Given the description of an element on the screen output the (x, y) to click on. 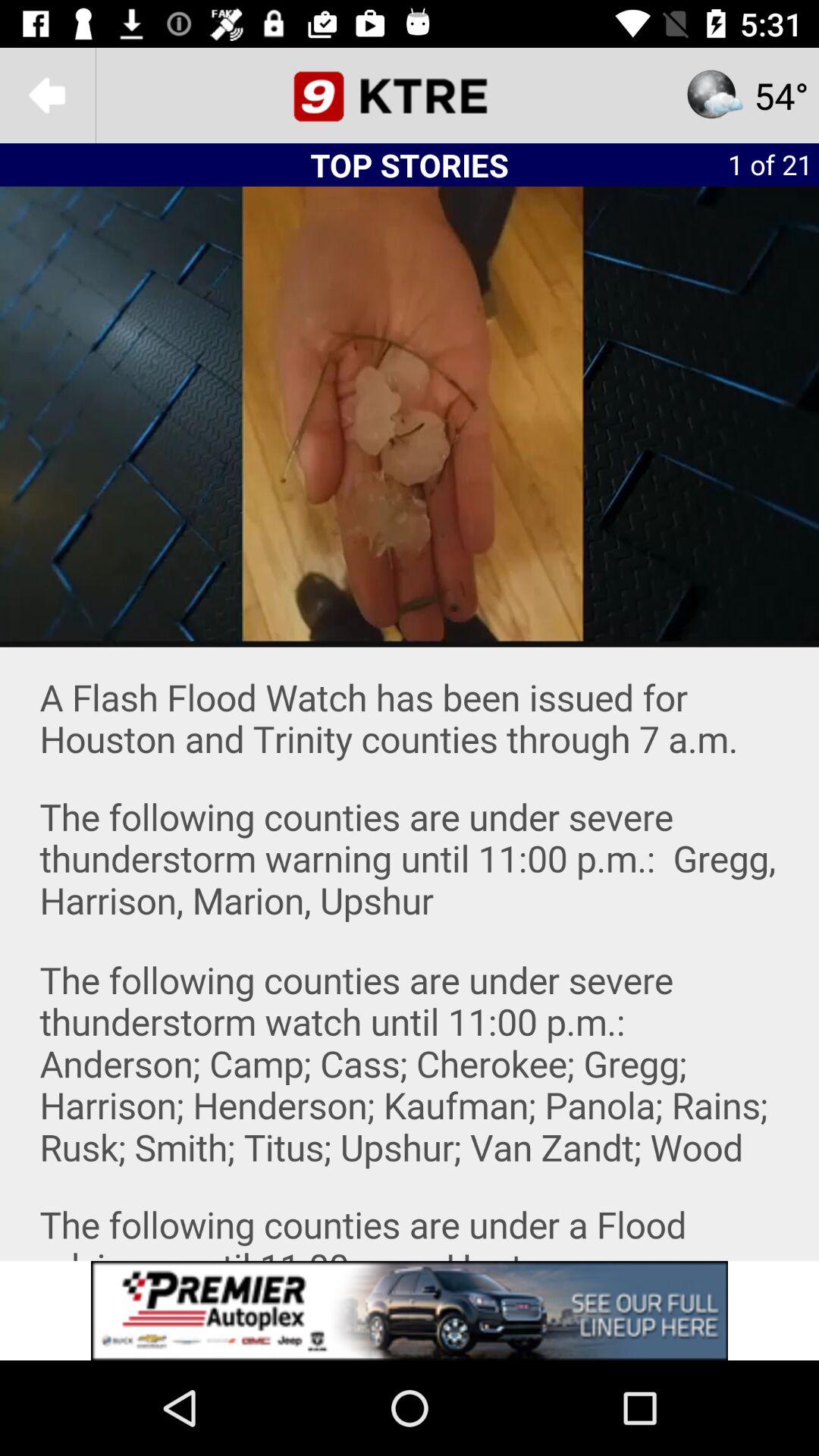
screen page (409, 1310)
